Given the description of an element on the screen output the (x, y) to click on. 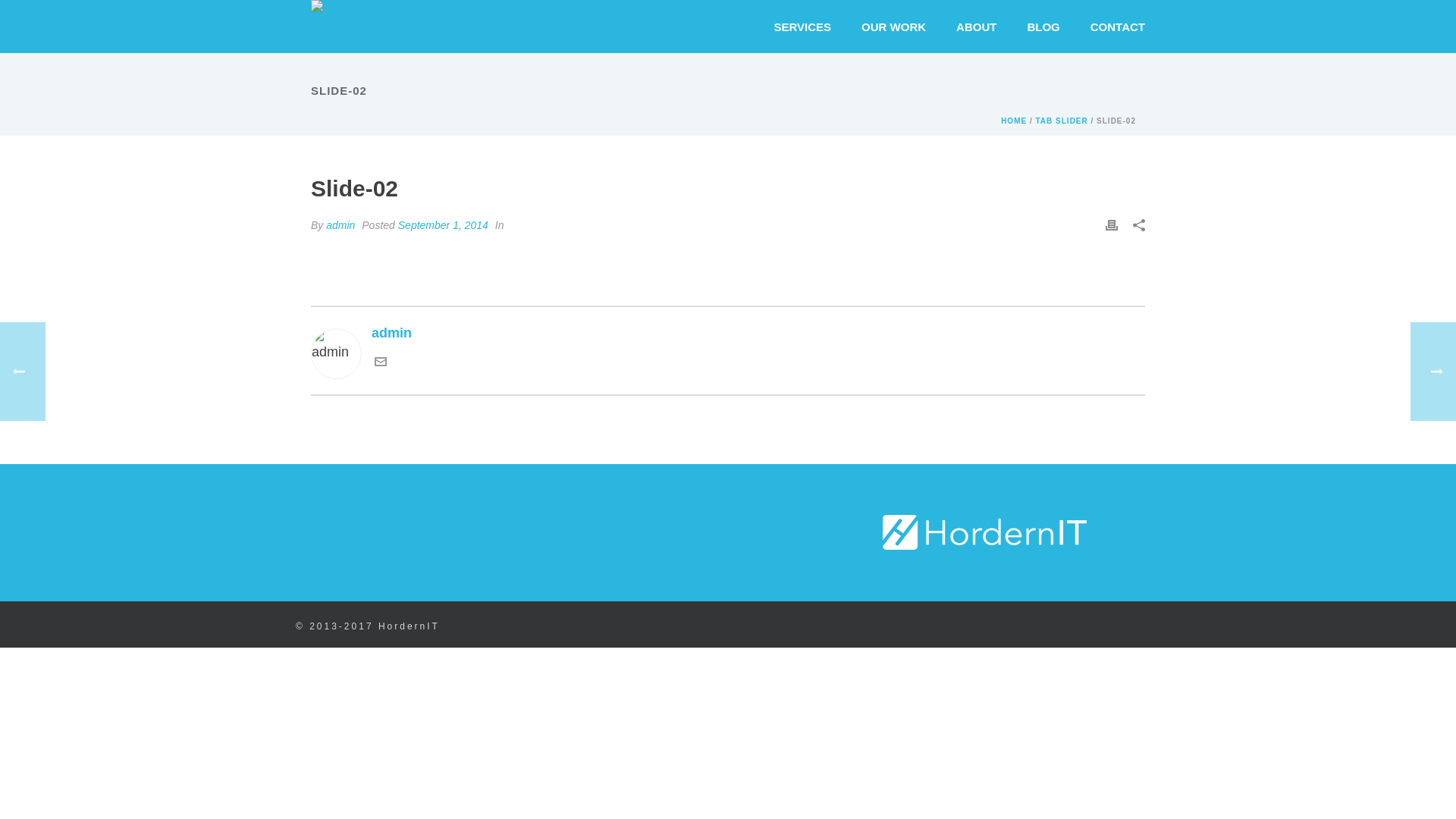
admin Element type: text (340, 225)
Print Element type: hover (1111, 224)
OUR WORK Element type: text (893, 27)
SERVICES Element type: text (803, 27)
admin Element type: text (727, 333)
Get in touch with me via email Element type: hover (380, 362)
CONTACT Element type: text (1117, 27)
BLOG Element type: text (1042, 27)
September 1, 2014 Element type: text (443, 225)
HOME Element type: text (1013, 120)
ABOUT Element type: text (976, 27)
TAB SLIDER Element type: text (1061, 120)
Expert Custom Software  & Business Solutions Element type: hover (338, 26)
